Given the description of an element on the screen output the (x, y) to click on. 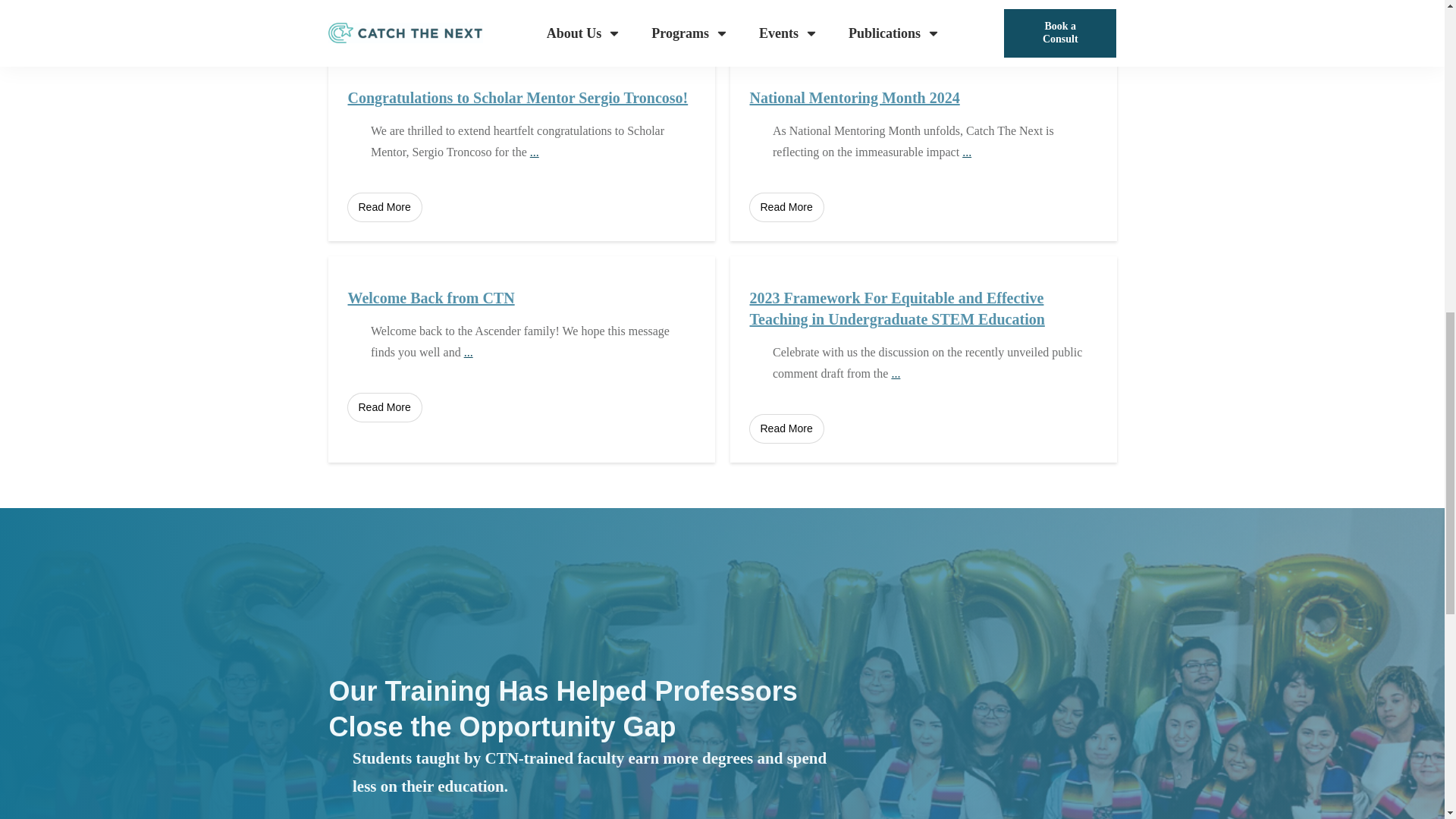
Congratulations to Scholar Mentor Sergio Troncoso! (517, 97)
Welcome Back from CTN (430, 297)
National Mentoring Month 2024 (854, 97)
